Given the description of an element on the screen output the (x, y) to click on. 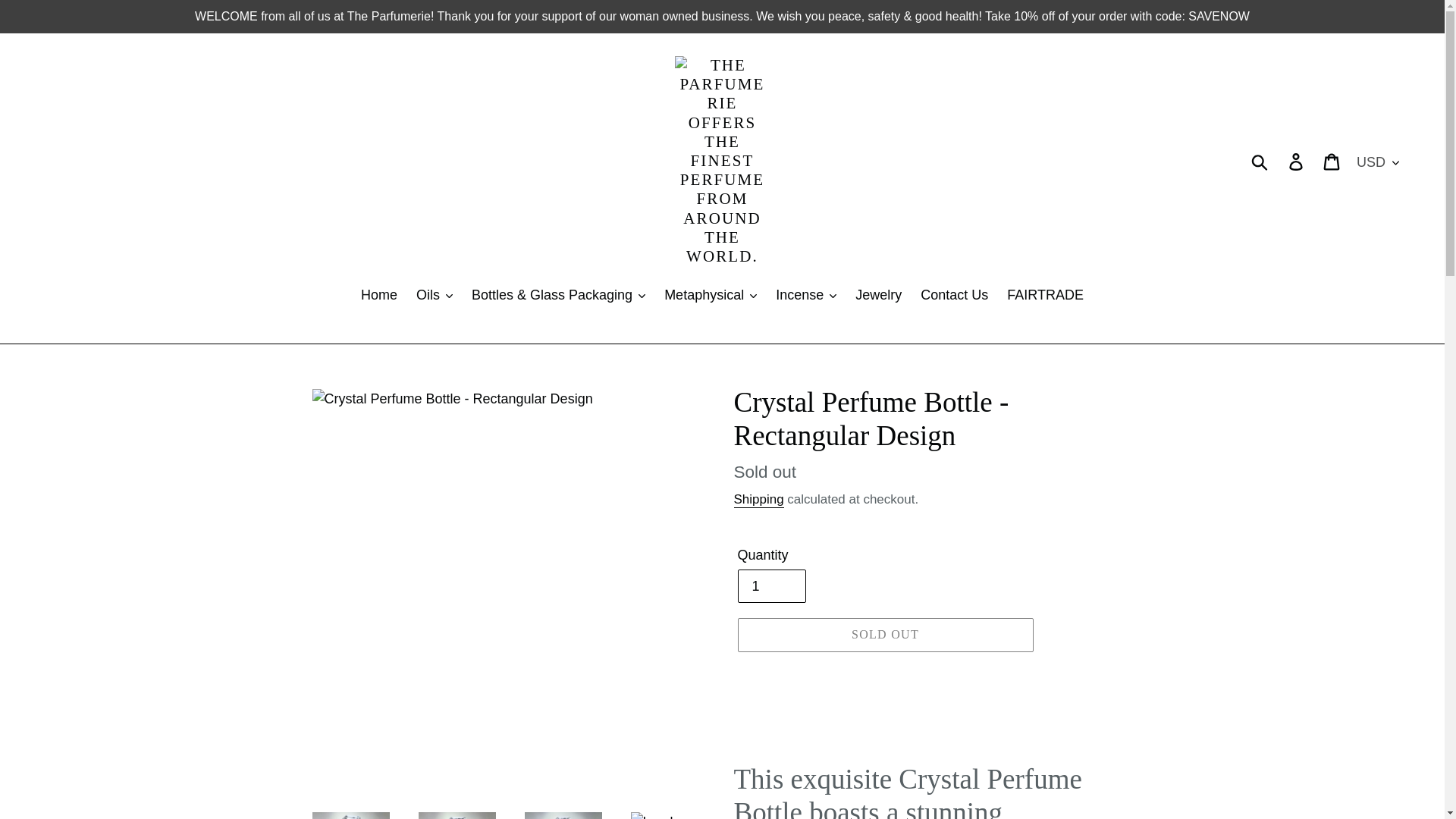
1 (770, 585)
Log in (1296, 161)
Cart (1332, 161)
Submit (1260, 161)
